Given the description of an element on the screen output the (x, y) to click on. 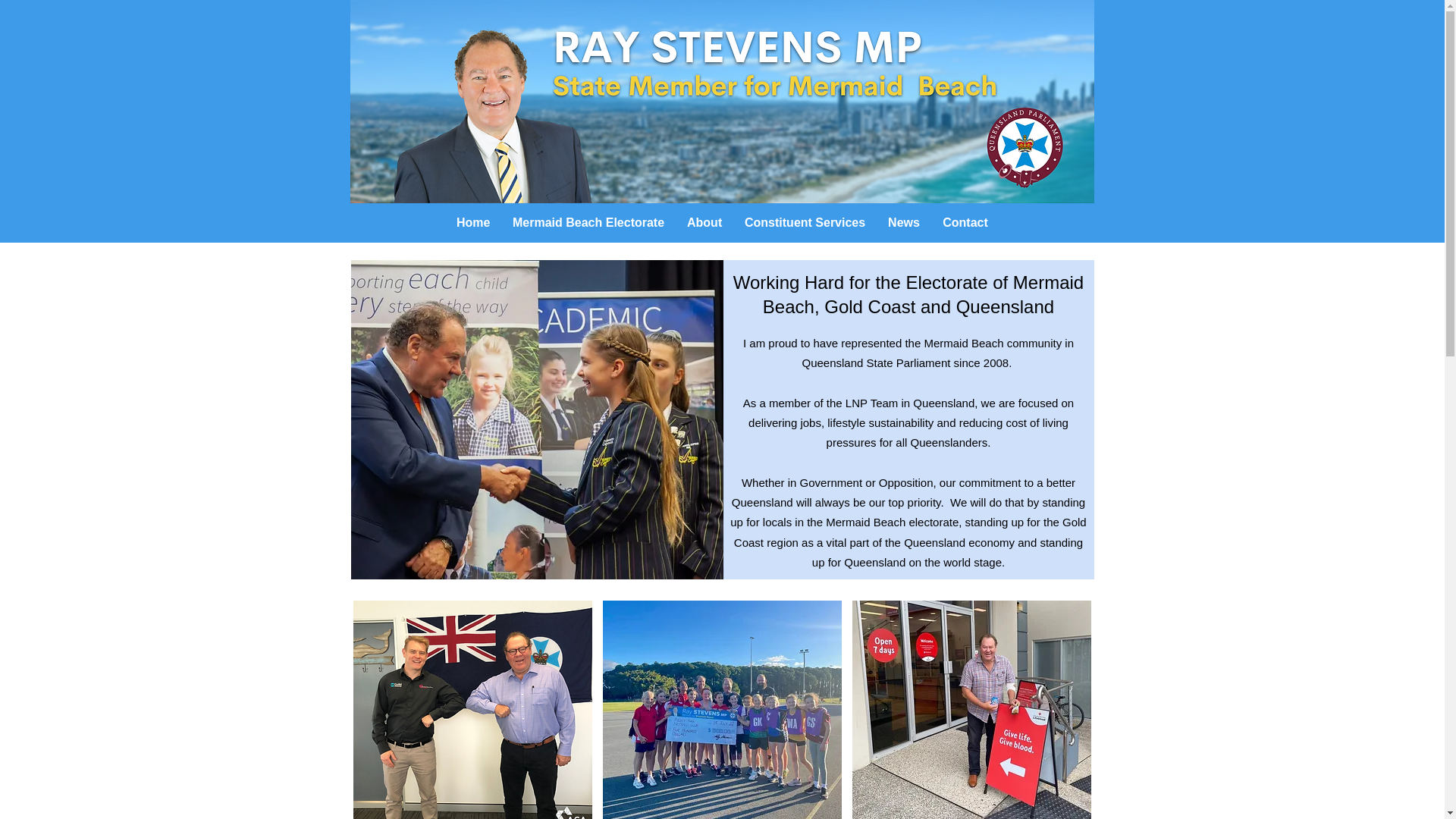
Constituent Services Element type: text (804, 222)
News Element type: text (903, 222)
Home Element type: text (473, 222)
Mermaid Beach Electorate Element type: text (588, 222)
Contact Element type: text (965, 222)
